Given the description of an element on the screen output the (x, y) to click on. 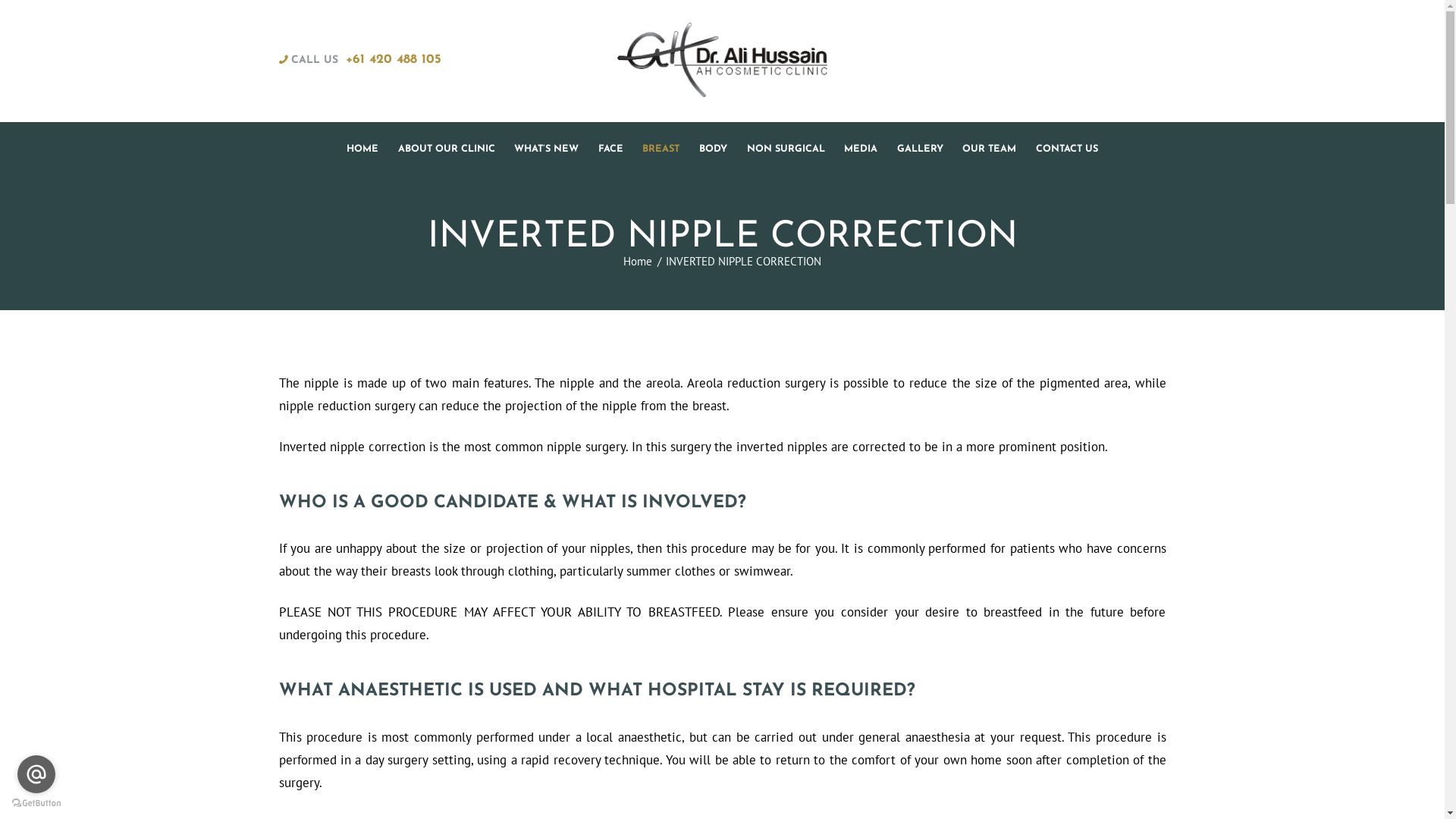
NON SURGICAL Element type: text (785, 148)
BODY Element type: text (713, 148)
Home Element type: text (637, 260)
OUR TEAM Element type: text (989, 148)
CONTACT US Element type: text (1066, 148)
GALLERY Element type: text (920, 148)
BREAST Element type: text (661, 148)
+61 420 488 105 Element type: text (393, 59)
FACE Element type: text (610, 148)
MEDIA Element type: text (860, 148)
HOME Element type: text (362, 148)
ABOUT OUR CLINIC Element type: text (446, 148)
